Given the description of an element on the screen output the (x, y) to click on. 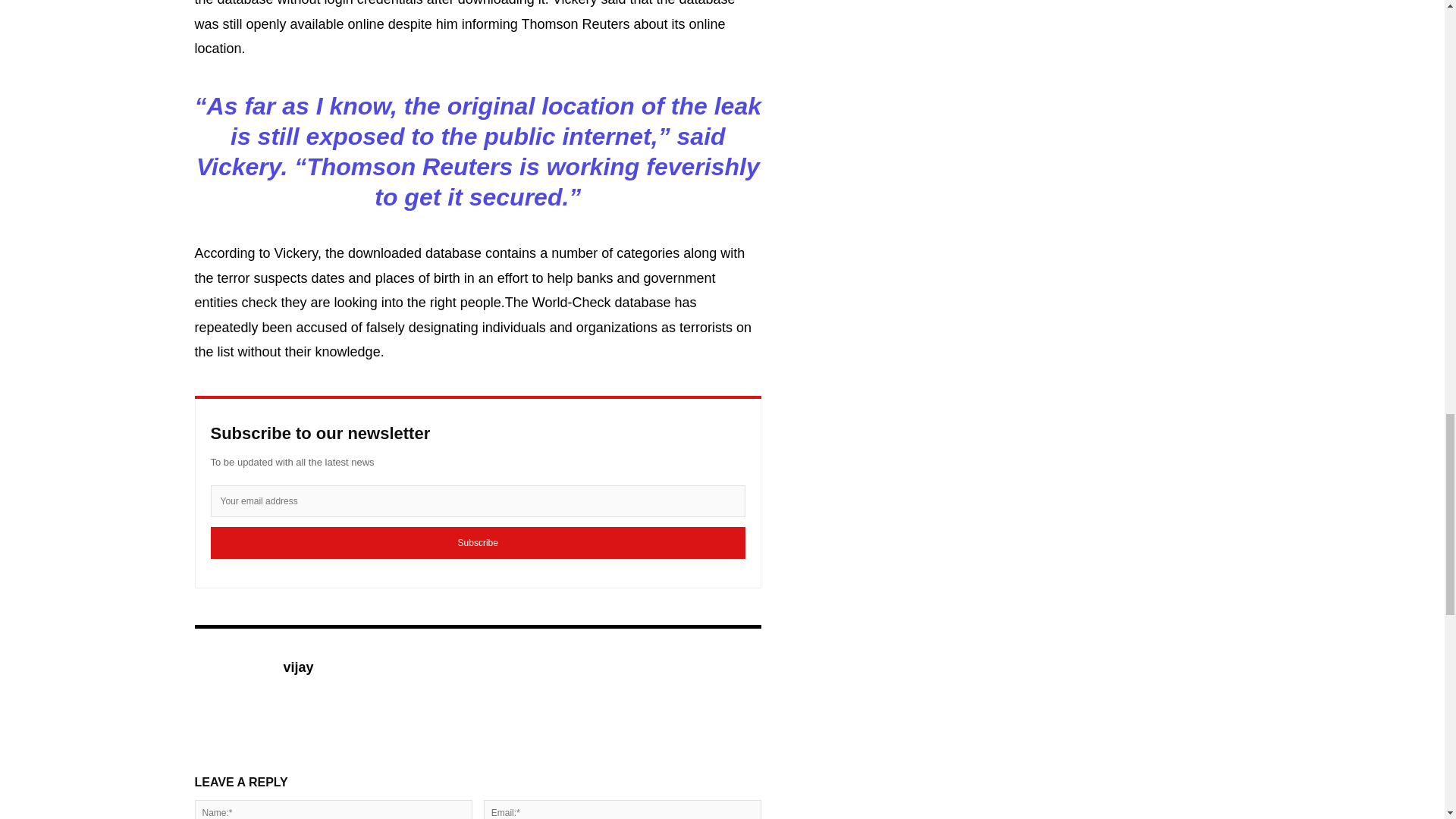
Subscribe (478, 542)
vijay (298, 668)
vijay (229, 690)
